Given the description of an element on the screen output the (x, y) to click on. 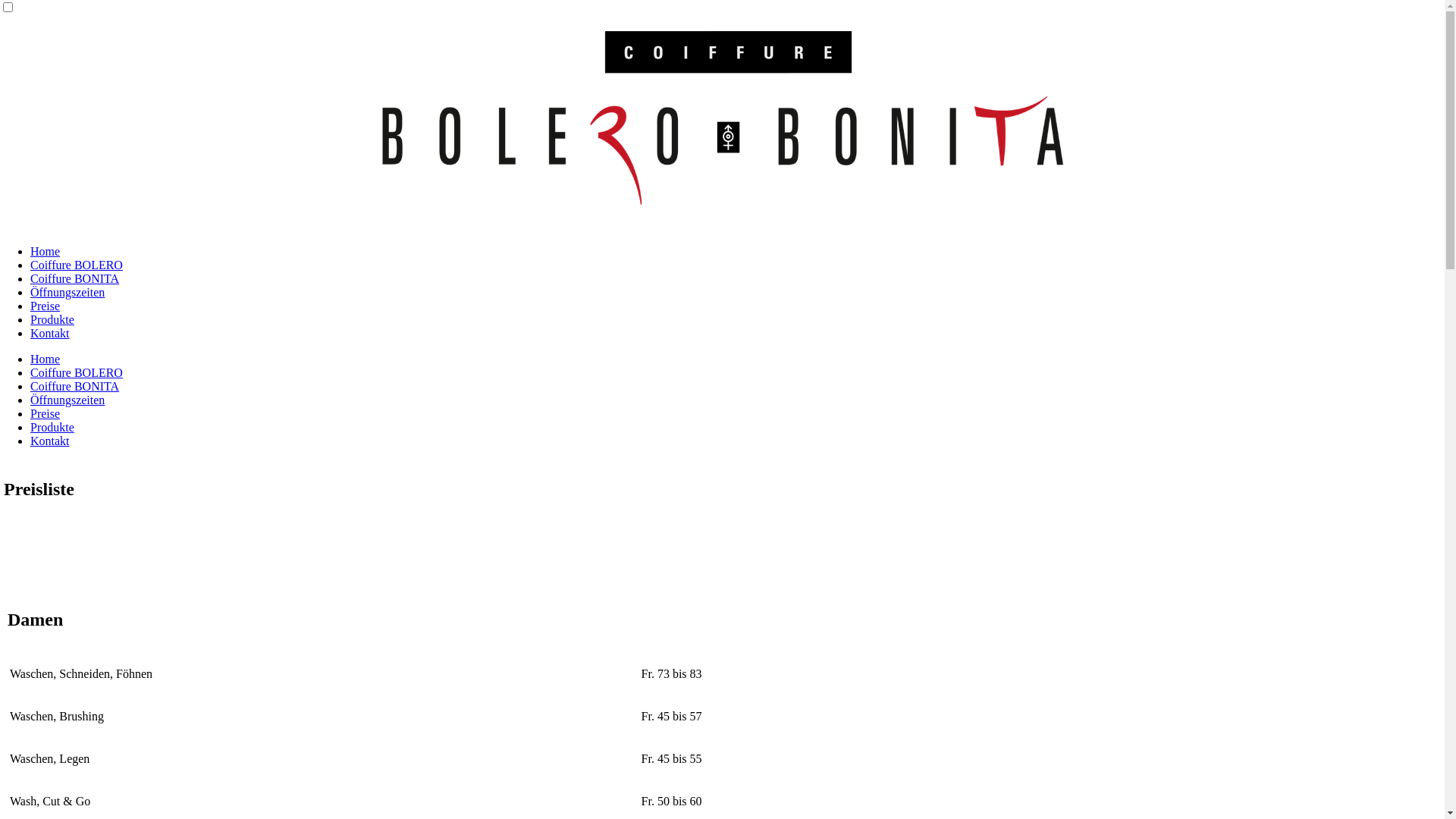
Coiffure BOLERO Element type: text (76, 264)
Produkte Element type: text (52, 426)
Home Element type: text (44, 250)
Preise Element type: text (44, 413)
Coiffure BONITA Element type: text (74, 278)
Coiffure BONITA Element type: text (74, 385)
Coiffure BOLERO Element type: text (76, 372)
Kontakt Element type: text (49, 332)
Produkte Element type: text (52, 319)
Home Element type: text (44, 358)
Preise Element type: text (44, 305)
Kontakt Element type: text (49, 440)
